Given the description of an element on the screen output the (x, y) to click on. 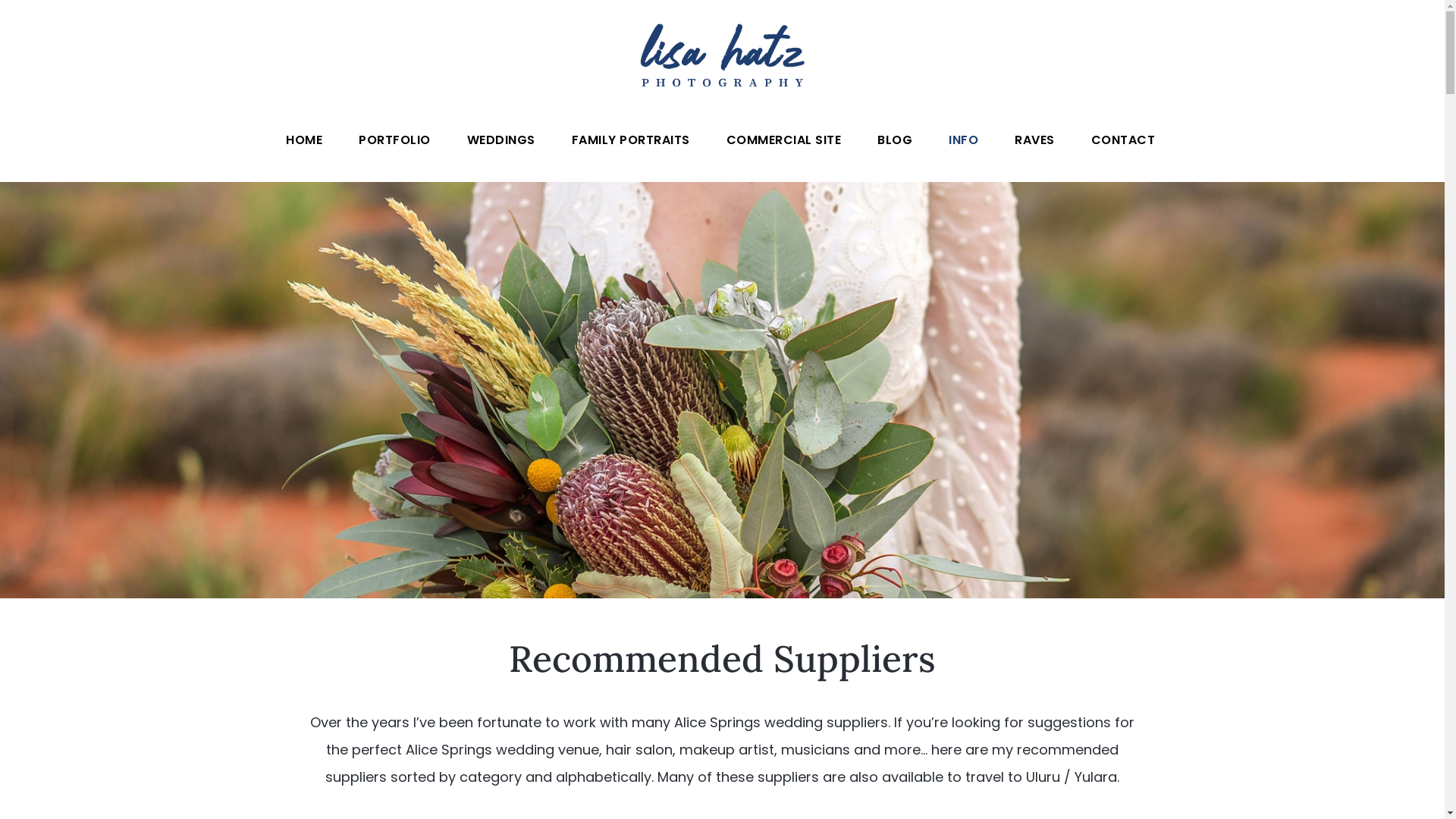
RAVES Element type: text (1034, 140)
BLOG Element type: text (894, 140)
WEDDINGS Element type: text (500, 140)
FAMILY PORTRAITS Element type: text (630, 140)
HOME Element type: text (303, 140)
COMMERCIAL SITE Element type: text (783, 140)
INFO Element type: text (963, 140)
CONTACT Element type: text (1122, 140)
PORTFOLIO Element type: text (394, 140)
